Given the description of an element on the screen output the (x, y) to click on. 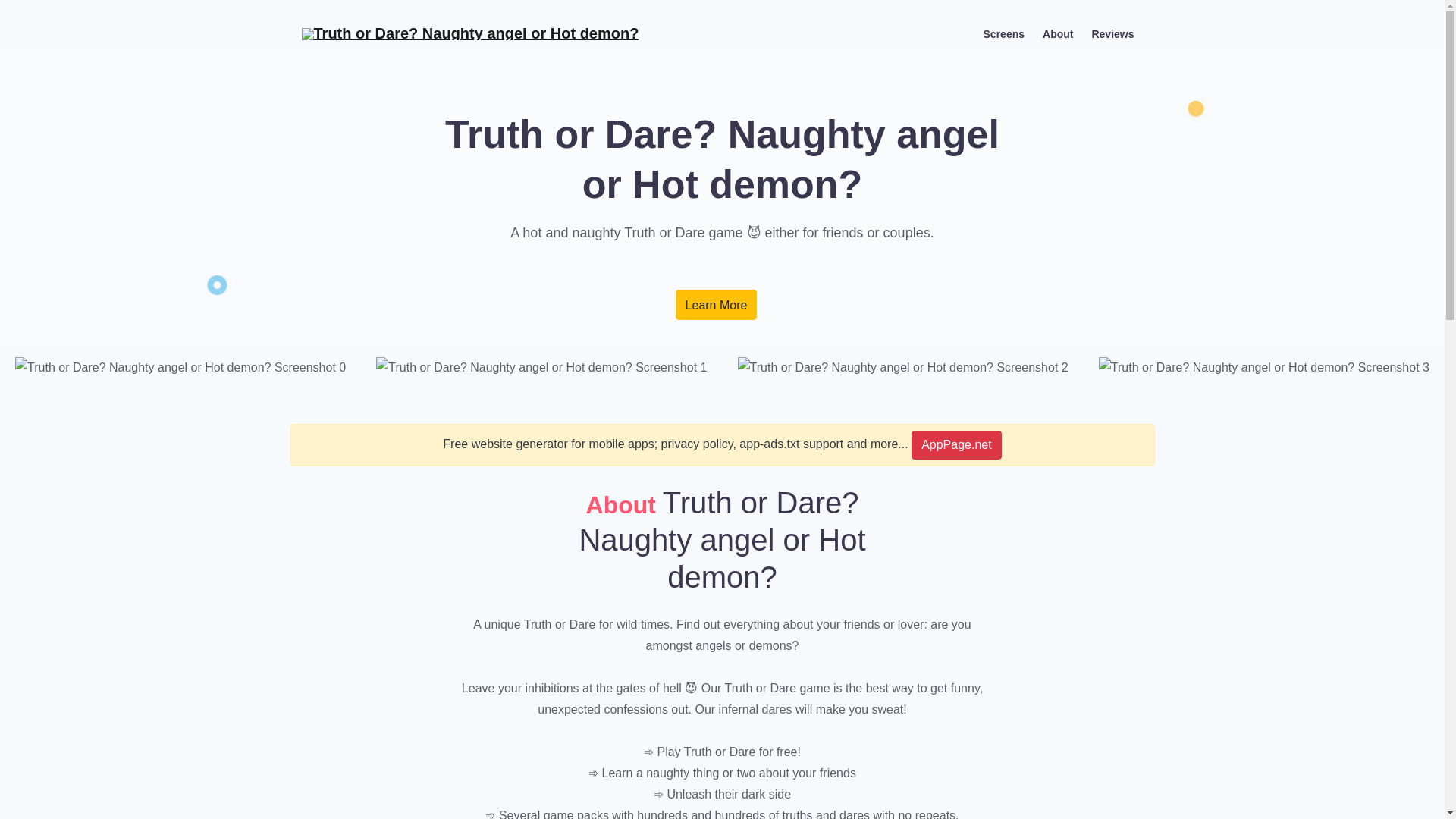
Learn More (716, 304)
About (1057, 33)
Reviews (1111, 33)
Screens (1003, 33)
Screens (1003, 33)
Learn More (716, 304)
AppPage.net (956, 444)
Reviews (1111, 33)
Learn More (716, 304)
About (1057, 33)
